Given the description of an element on the screen output the (x, y) to click on. 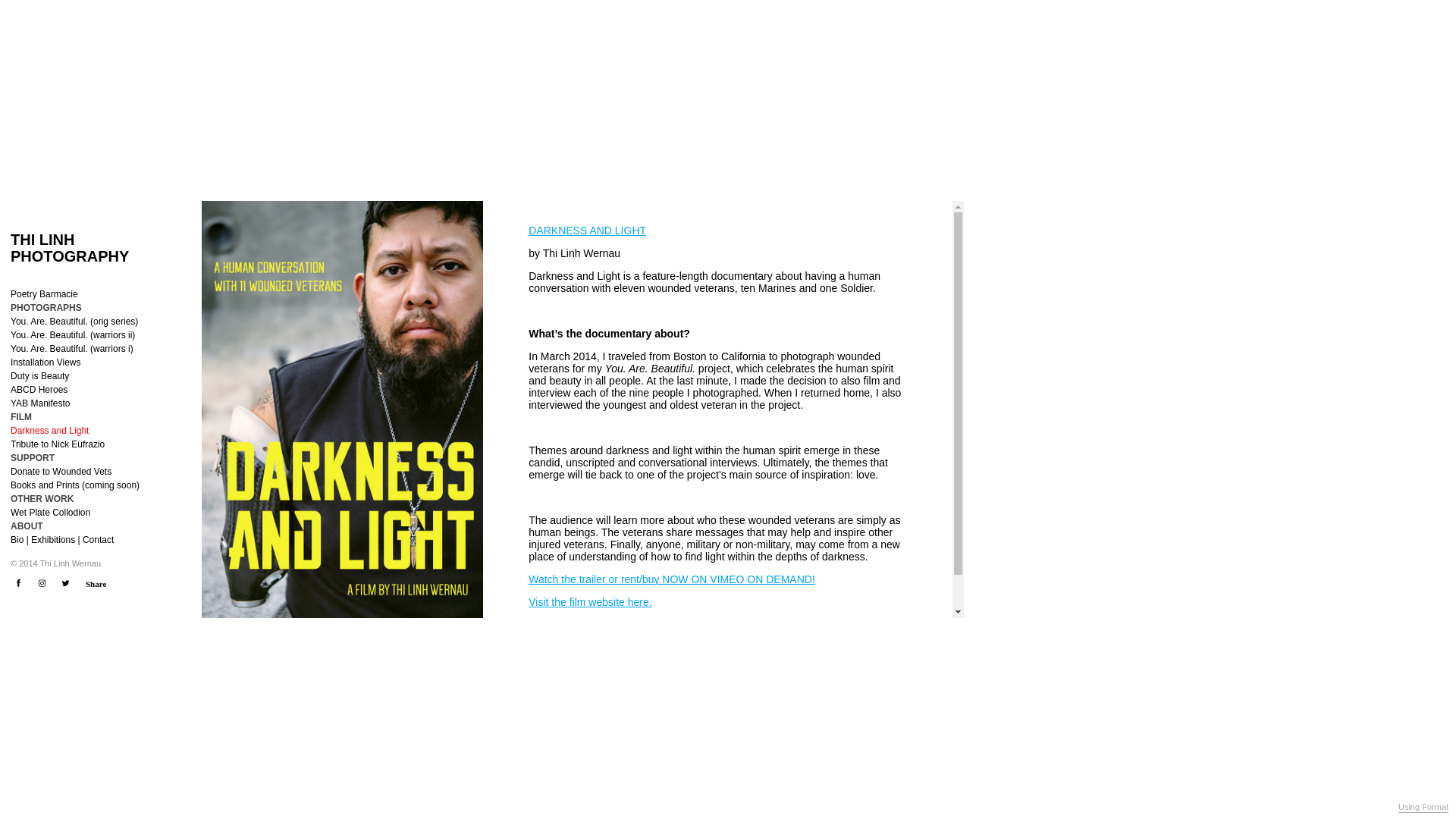
Installation Views (45, 362)
ABOUT (26, 526)
Share (95, 583)
Poetry Barmacie (44, 294)
Twitter (66, 583)
Facebook (18, 583)
Tribute to Nick Eufrazio (57, 444)
Darkness and Light (49, 430)
SUPPORT (32, 458)
Instagram (41, 583)
Donate to Wounded Vets (61, 471)
Visit the film website here. (589, 602)
ABCD Heroes (38, 389)
YAB Manifesto (39, 403)
PHOTOGRAPHS (45, 307)
